Given the description of an element on the screen output the (x, y) to click on. 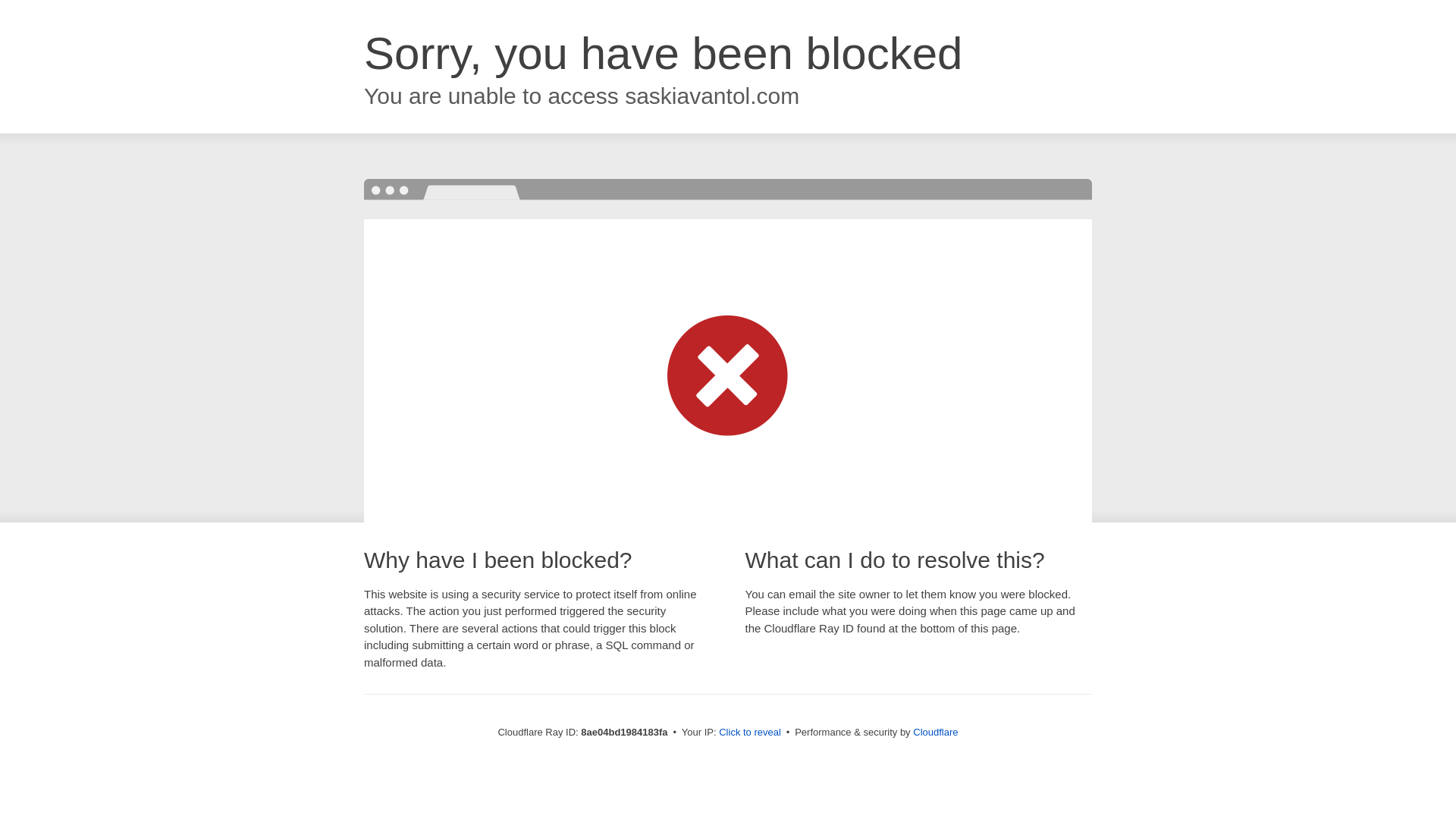
Cloudflare (935, 731)
Click to reveal (749, 732)
